Given the description of an element on the screen output the (x, y) to click on. 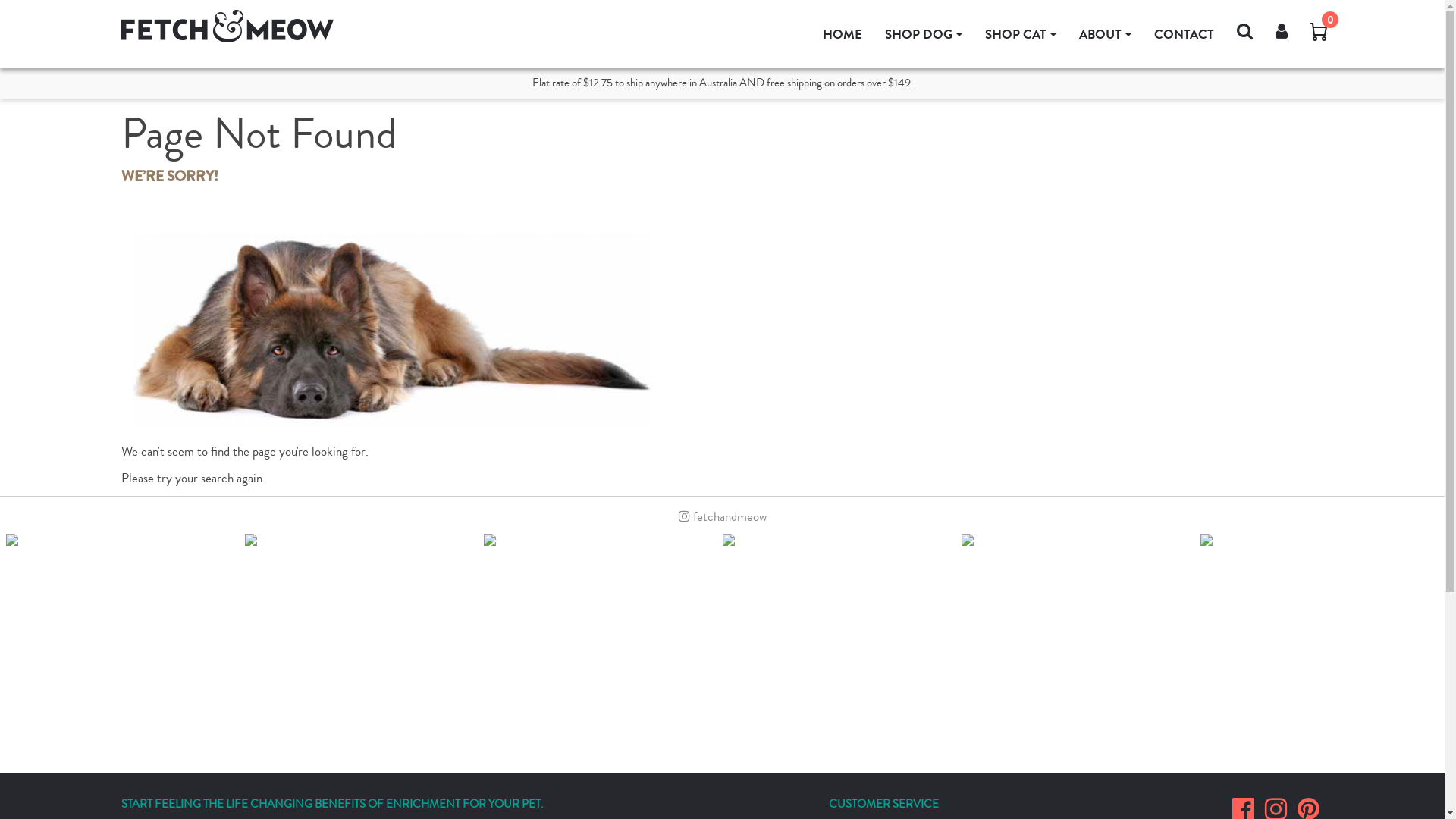
SHOP DOG Element type: text (923, 34)
fetchandmeow Element type: text (721, 516)
HOME Element type: text (842, 34)
0 Element type: text (1318, 34)
ABOUT Element type: text (1104, 34)
CONTACT Element type: text (1183, 34)
SHOP CAT Element type: text (1020, 34)
